Given the description of an element on the screen output the (x, y) to click on. 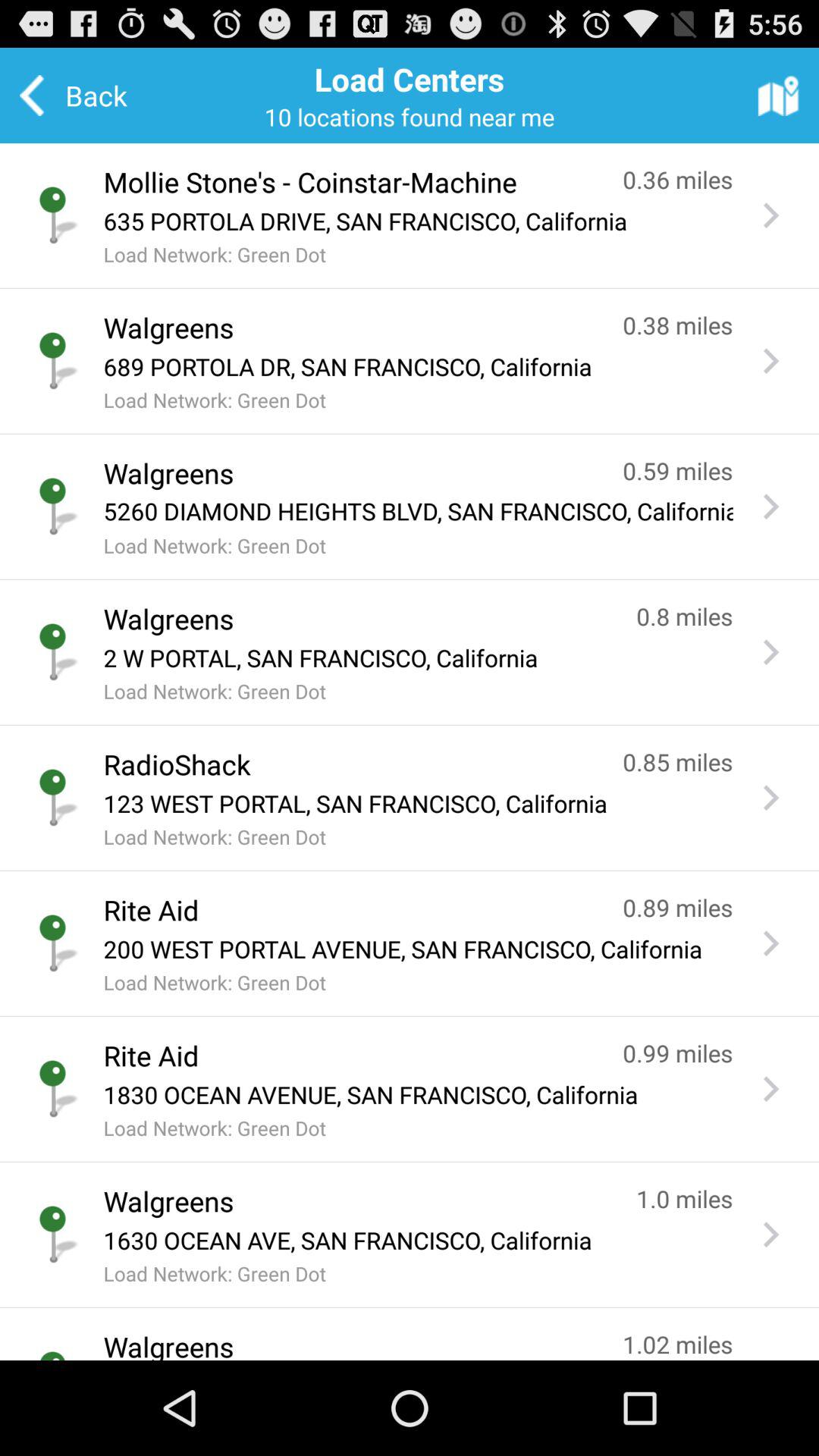
click the app above the load network green item (418, 511)
